Given the description of an element on the screen output the (x, y) to click on. 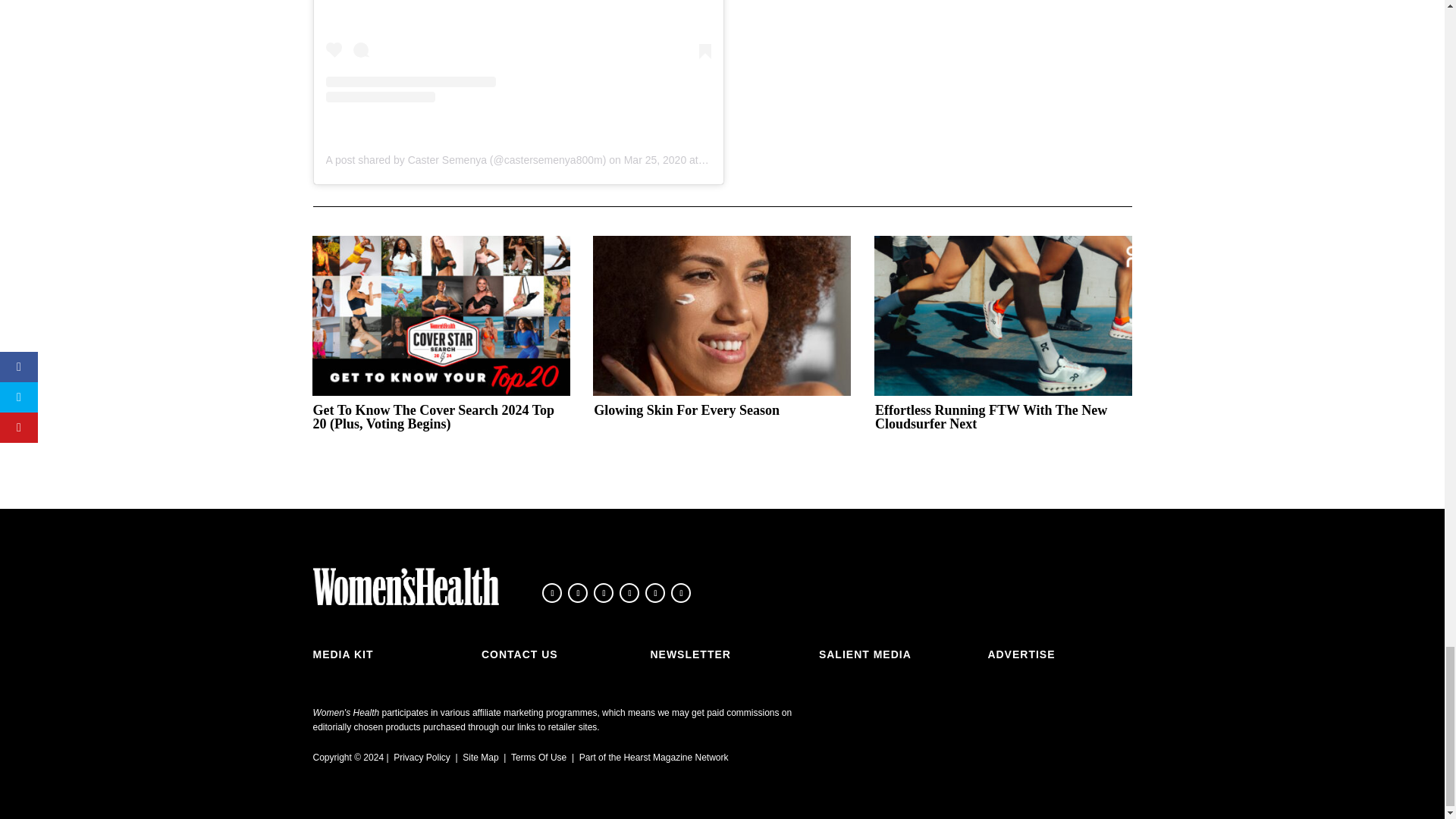
Follow on TikTok (629, 592)
Follow on Pinterest (680, 592)
Follow on X (577, 592)
Follow on Instagram (603, 592)
Follow on Youtube (655, 592)
Follow on Facebook (551, 592)
